Given the description of an element on the screen output the (x, y) to click on. 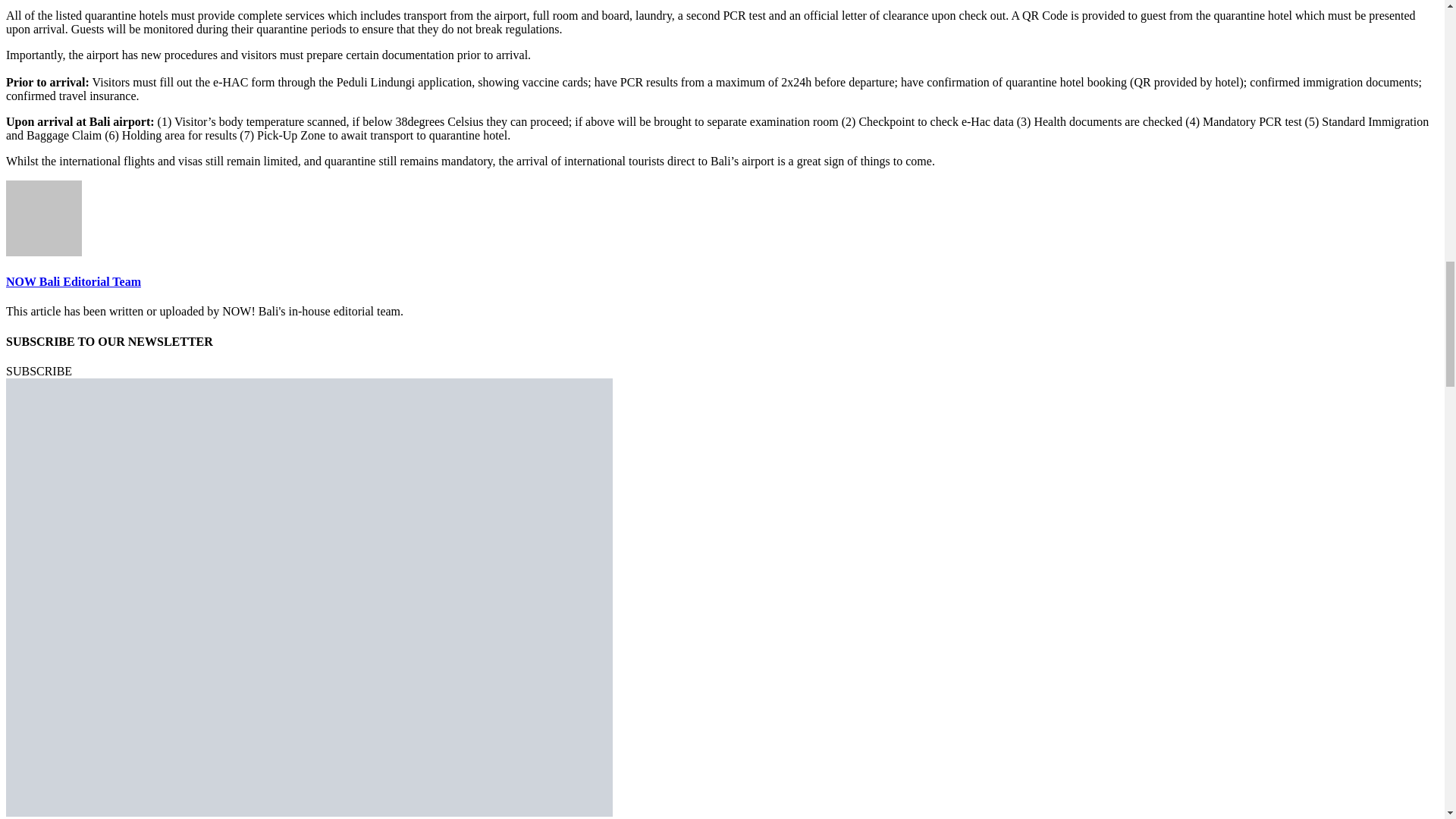
NOW Bali Editorial Team (73, 281)
SUBSCRIBE (38, 370)
